Given the description of an element on the screen output the (x, y) to click on. 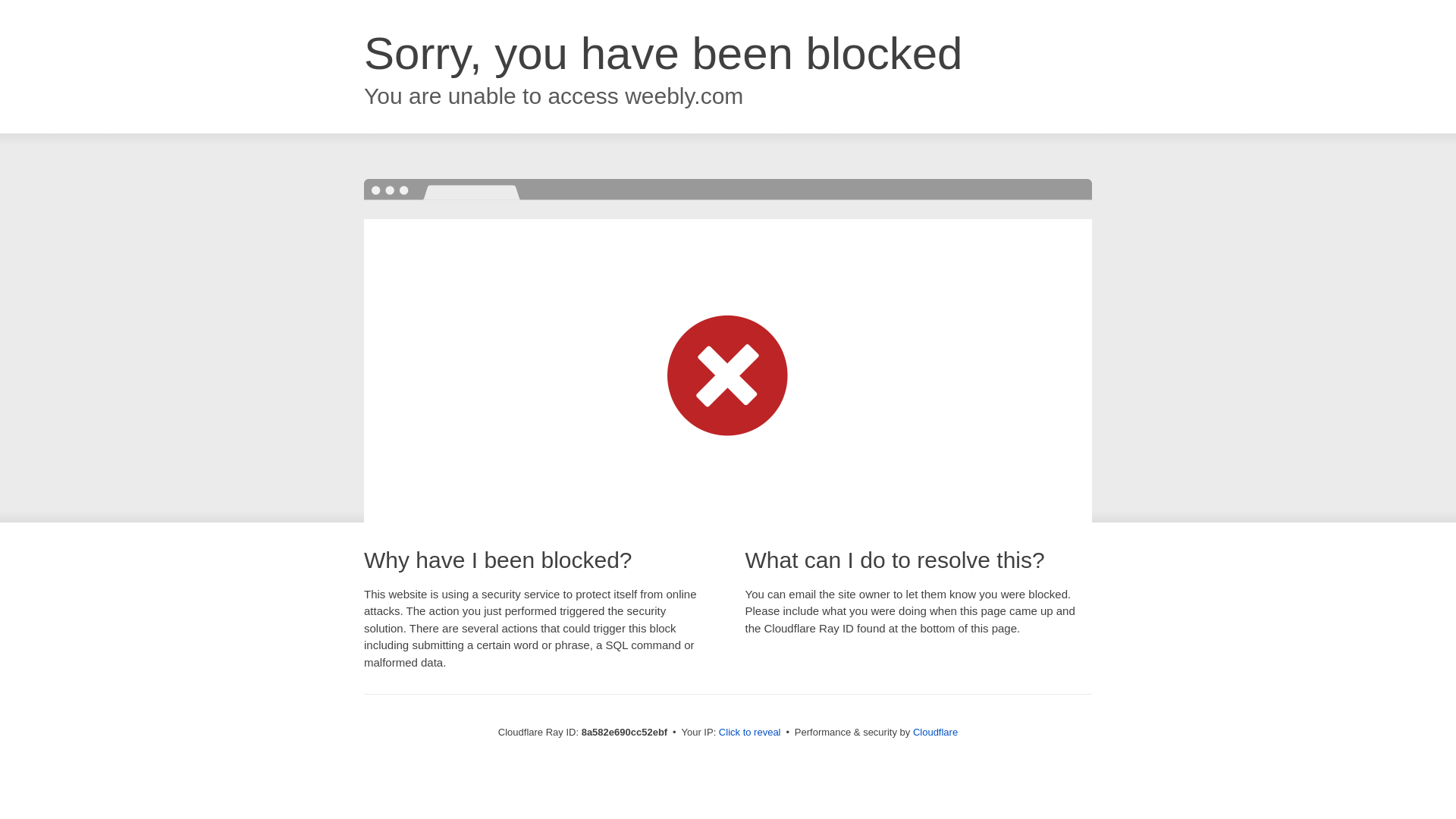
Cloudflare (935, 731)
Click to reveal (749, 732)
